Given the description of an element on the screen output the (x, y) to click on. 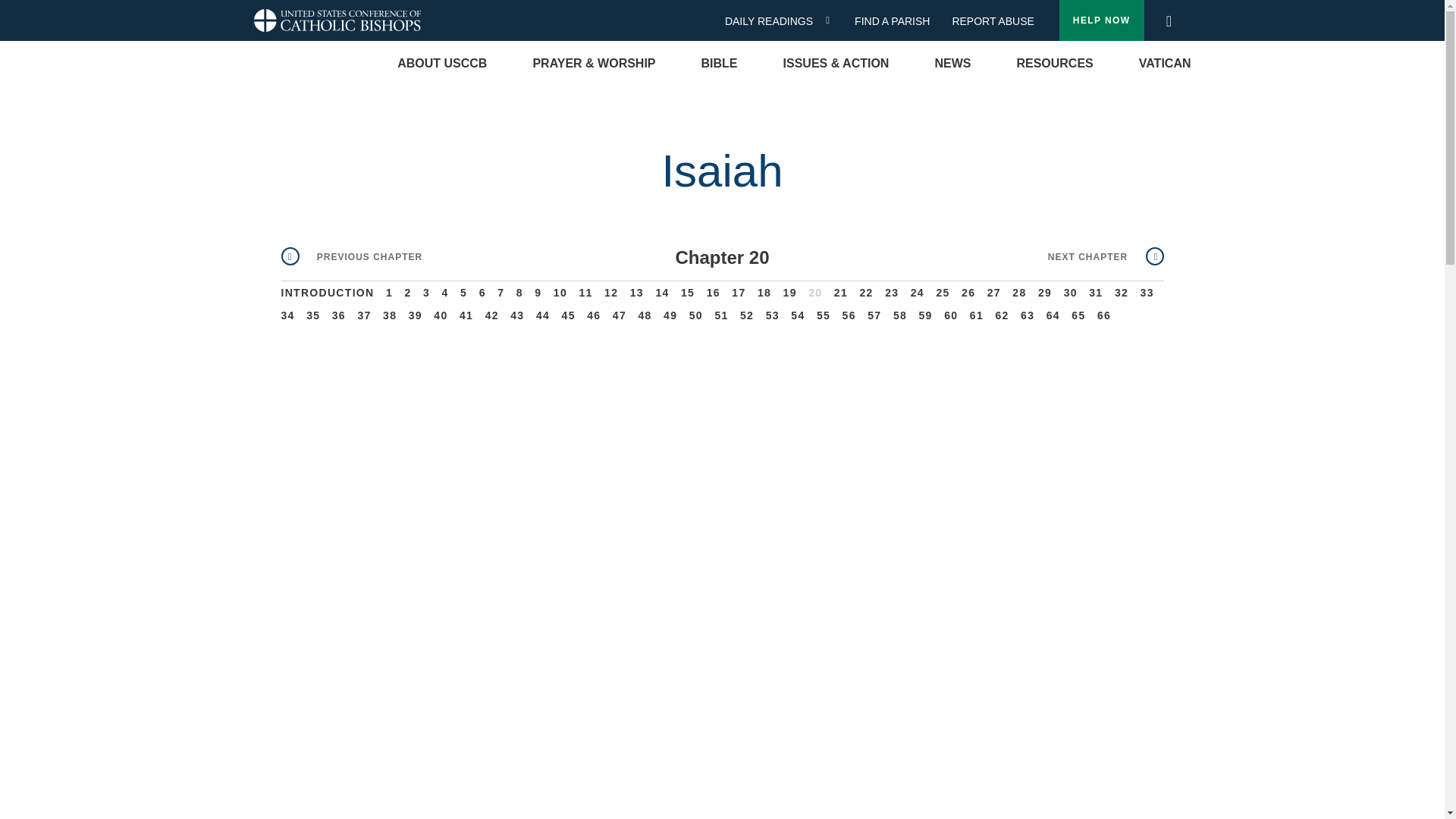
DAILY READINGS CALENDAR (832, 20)
Go to previous page (351, 256)
FIND A PARISH (897, 20)
DAILY READINGS (774, 20)
Go to next page (1105, 256)
Link list for Vatican website (1165, 62)
Search (1168, 16)
HELP NOW (1101, 20)
REPORT ABUSE (992, 20)
